Given the description of an element on the screen output the (x, y) to click on. 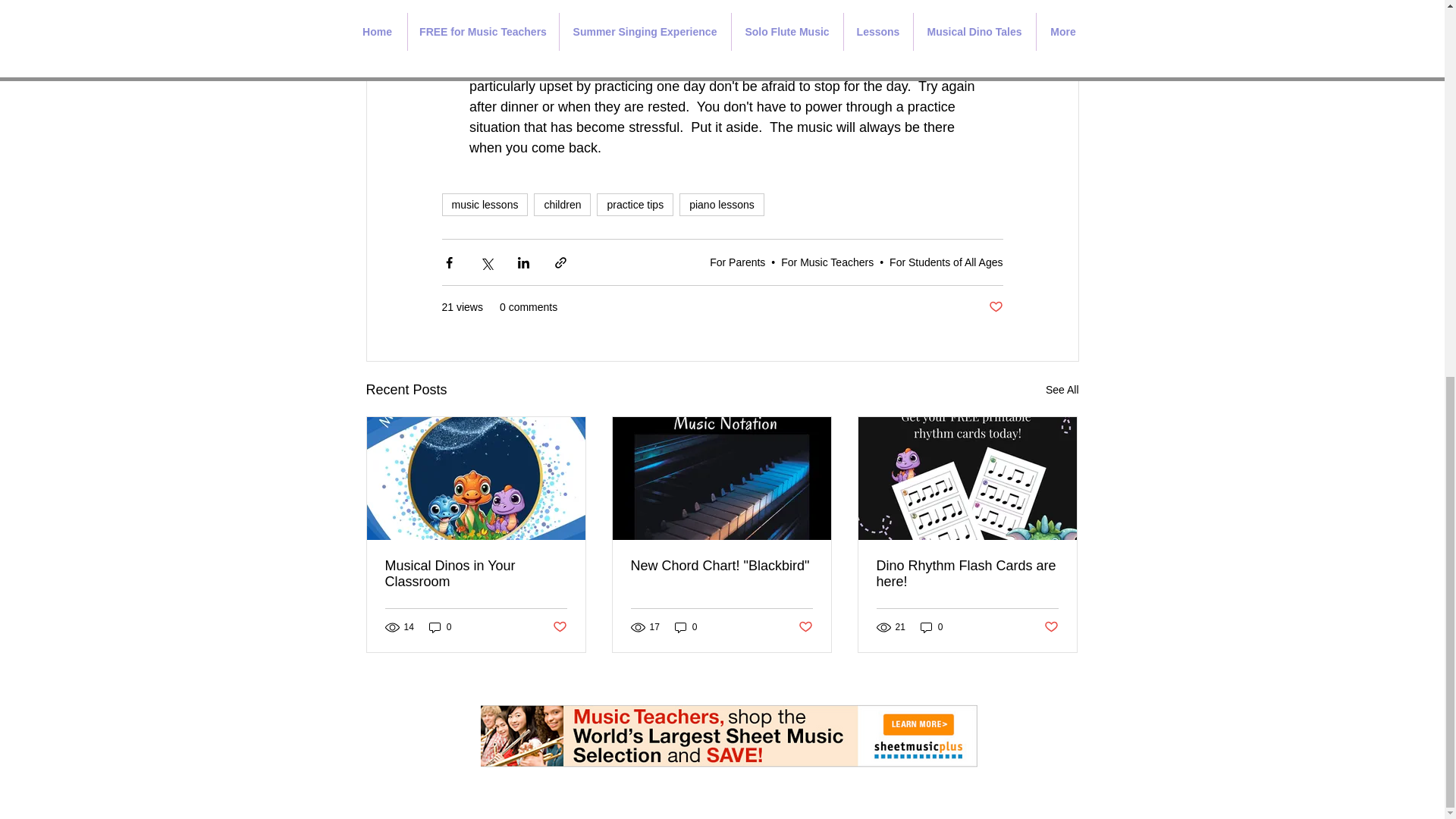
practice tips (634, 204)
children (562, 204)
music lessons (484, 204)
piano lessons (721, 204)
